Given the description of an element on the screen output the (x, y) to click on. 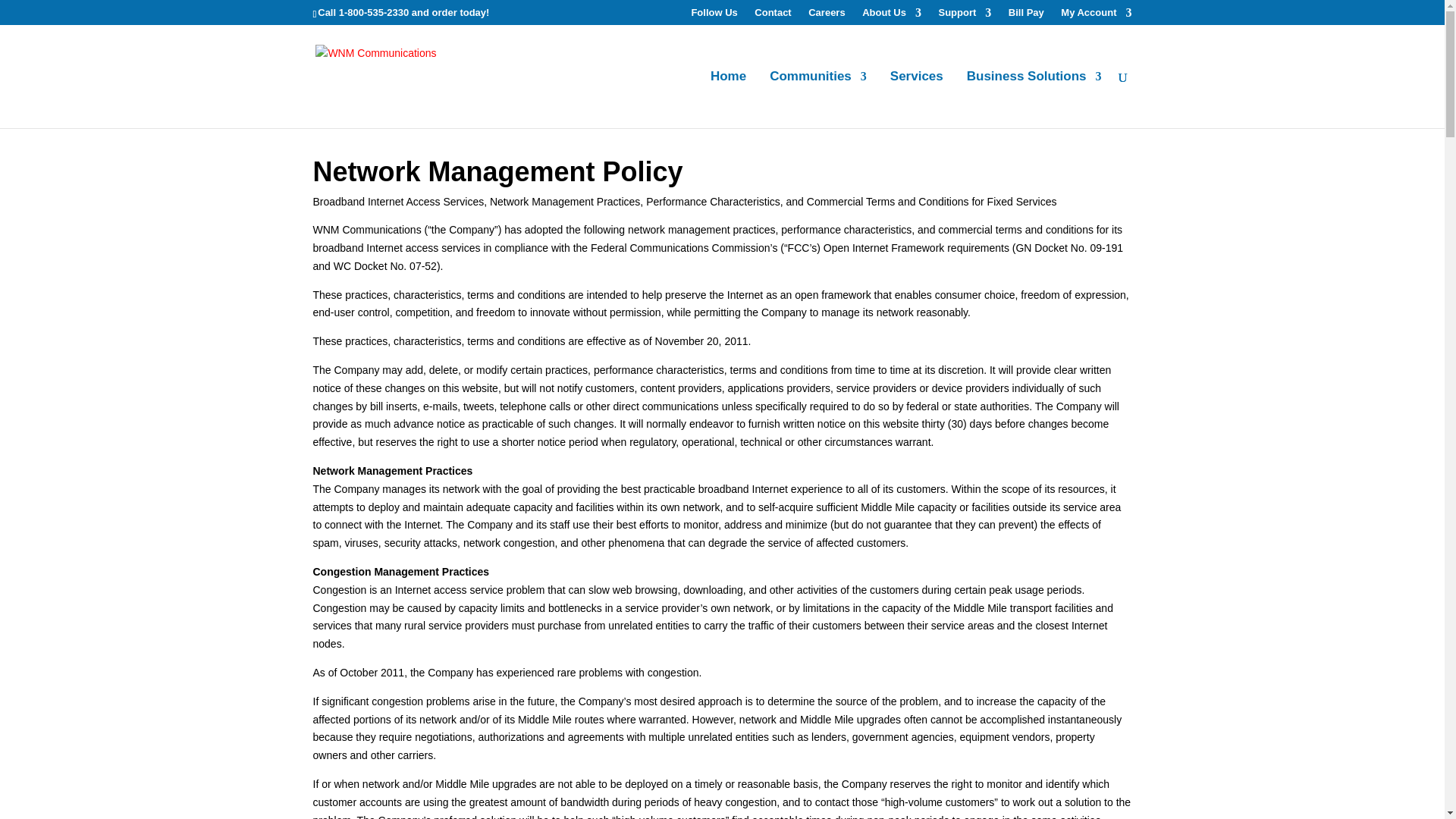
About Us (890, 16)
My Account (1094, 16)
Follow Us (713, 16)
Services (914, 99)
Business Solutions (1032, 99)
Bill Pay (1024, 16)
Careers (824, 16)
Support (963, 16)
Contact (770, 16)
Communities (815, 99)
